Given the description of an element on the screen output the (x, y) to click on. 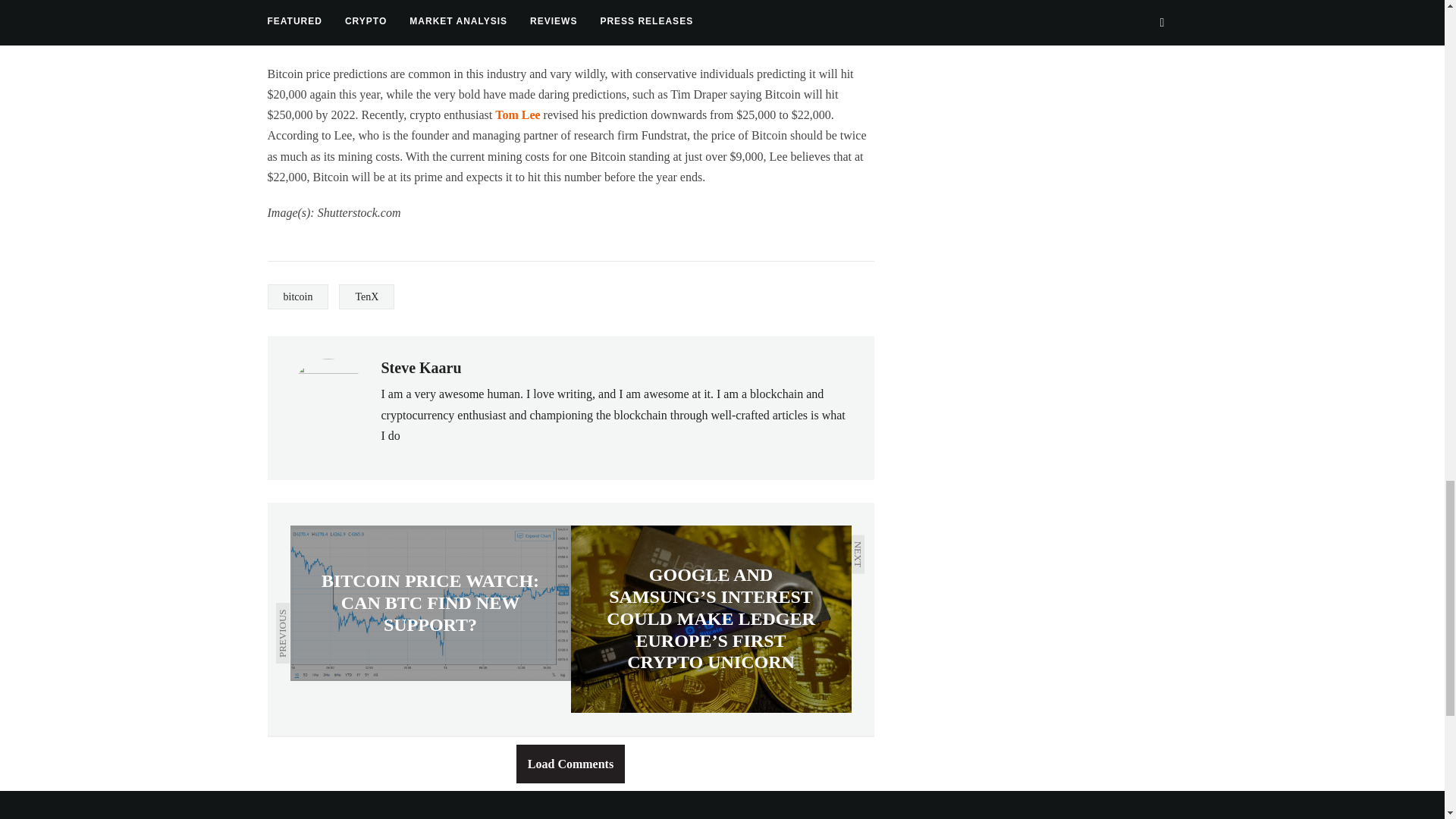
Tom Lee (517, 114)
Load Comments (570, 763)
TenX (366, 296)
bitcoin (297, 296)
Steve Kaaru (420, 367)
BITCOIN PRICE WATCH: CAN BTC FIND NEW SUPPORT? (429, 602)
Bitcoin Price Watch: Can BTC find new support? (429, 602)
Posts by Steve Kaaru (420, 367)
